Given the description of an element on the screen output the (x, y) to click on. 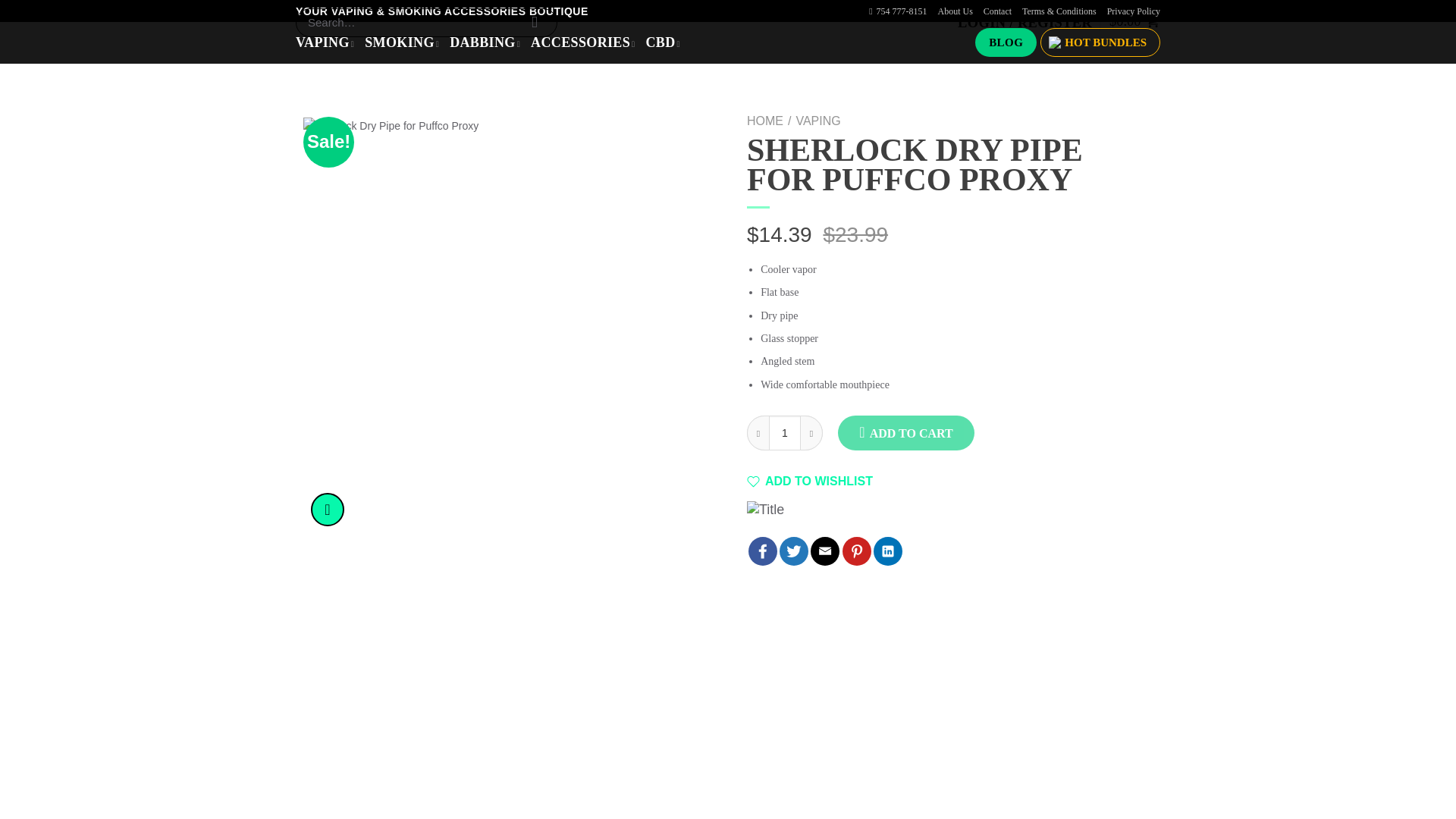
pinterest (856, 551)
Facebook (762, 551)
Twitter (793, 551)
massage (825, 551)
Share on LinkedIn (887, 551)
1 (784, 432)
